Given the description of an element on the screen output the (x, y) to click on. 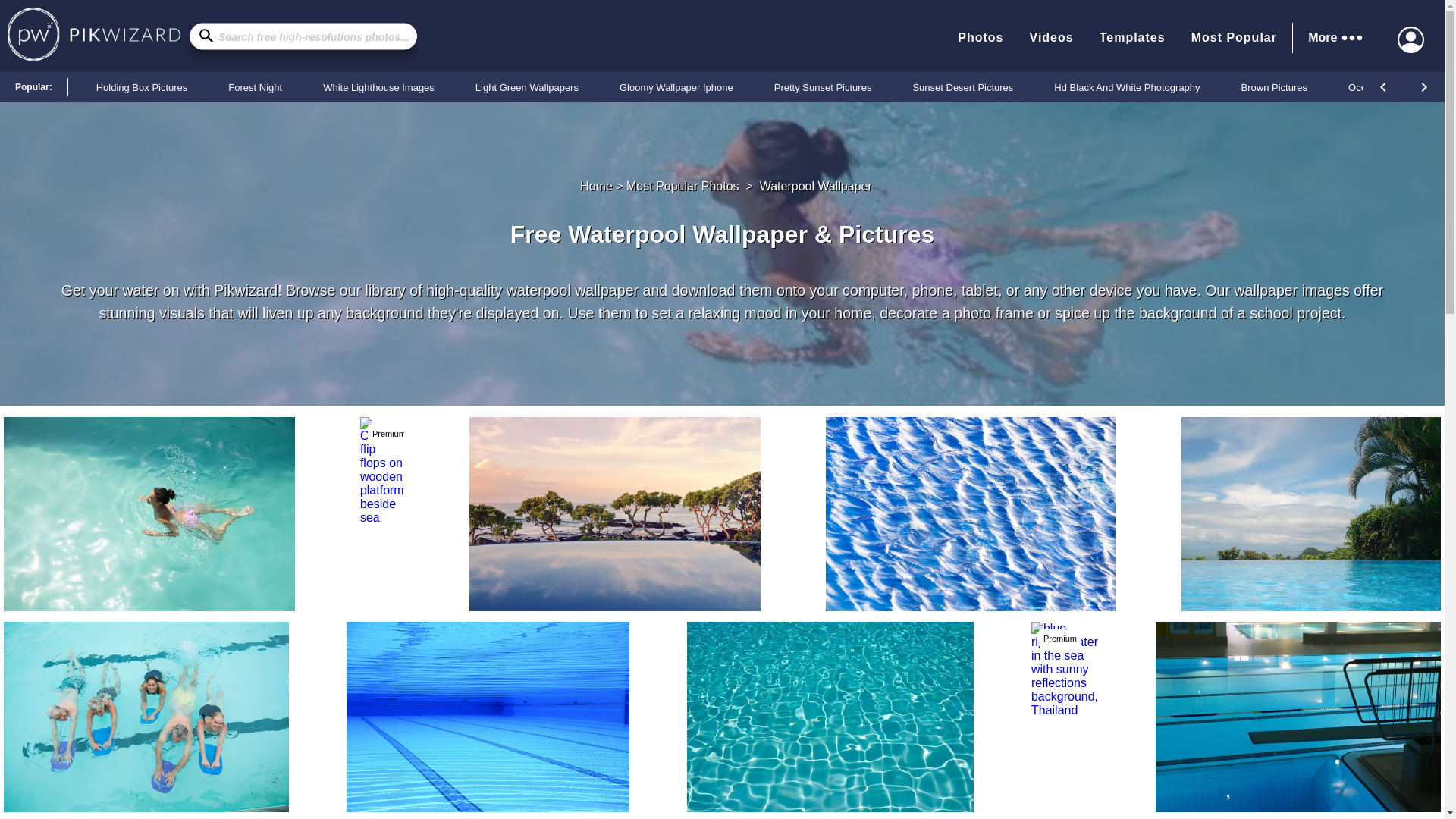
Hd Black And White Photography (1126, 86)
Brown Pictures (1274, 86)
Ocean Beach Photo (1391, 86)
Light Green Wallpapers (527, 86)
Holding Box Pictures (141, 86)
Gloomy Wallpaper Iphone (676, 86)
Pretty Sunset Pictures (823, 86)
Forest Night (255, 86)
Videos (1051, 37)
Sunset Desert Pictures (962, 86)
Photos (980, 37)
Templates (1132, 37)
White Lighthouse Images (378, 86)
